Given the description of an element on the screen output the (x, y) to click on. 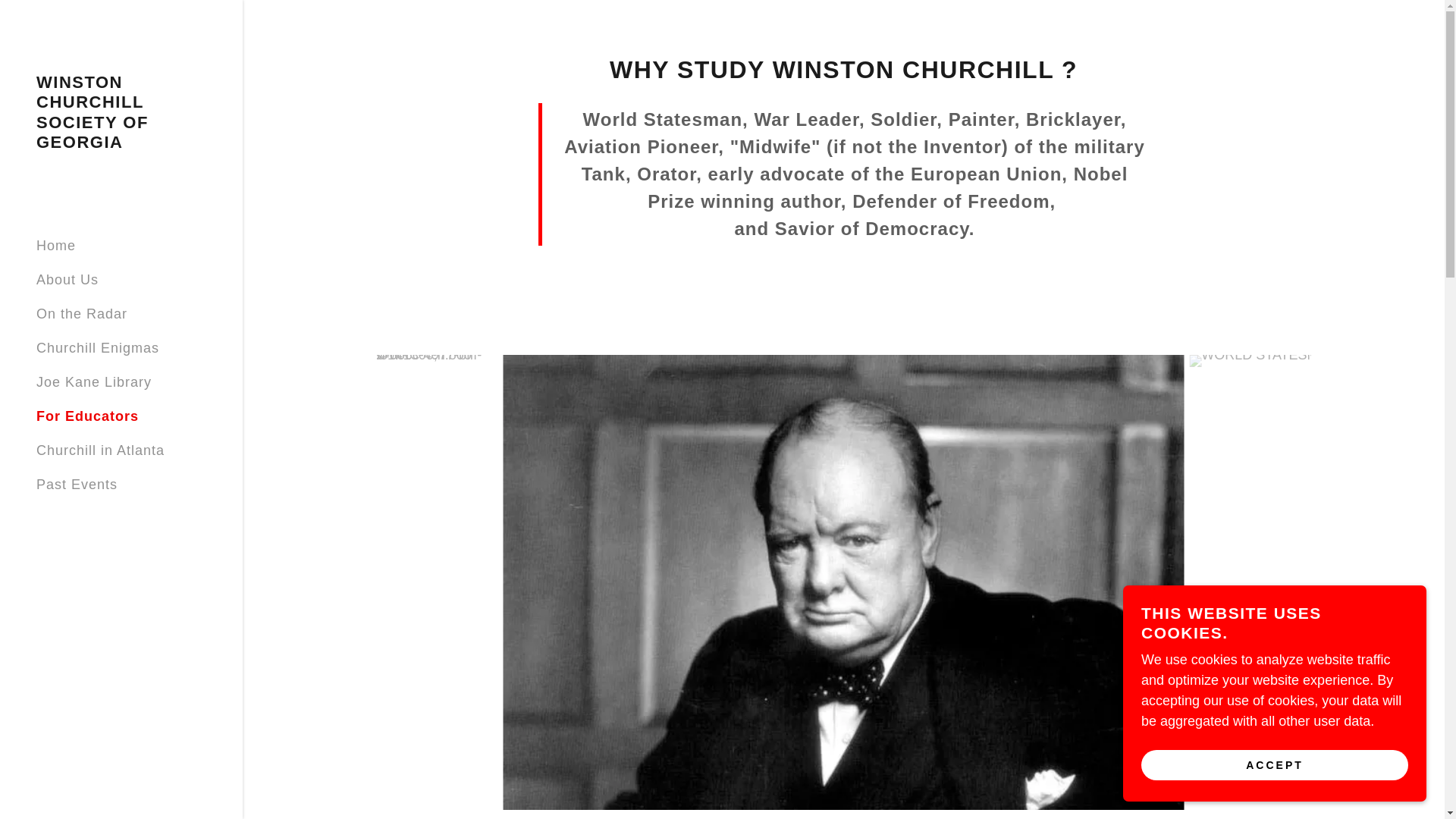
On the Radar (82, 313)
Home (55, 245)
Churchill Enigmas (97, 347)
Past Events (76, 484)
Joe Kane Library (93, 381)
About Us (67, 279)
For Educators (87, 416)
WINSTON CHURCHILL SOCIETY OF GEORGIA (121, 142)
Winston Churchill Society of Georgia (121, 142)
ACCEPT (1274, 764)
